Given the description of an element on the screen output the (x, y) to click on. 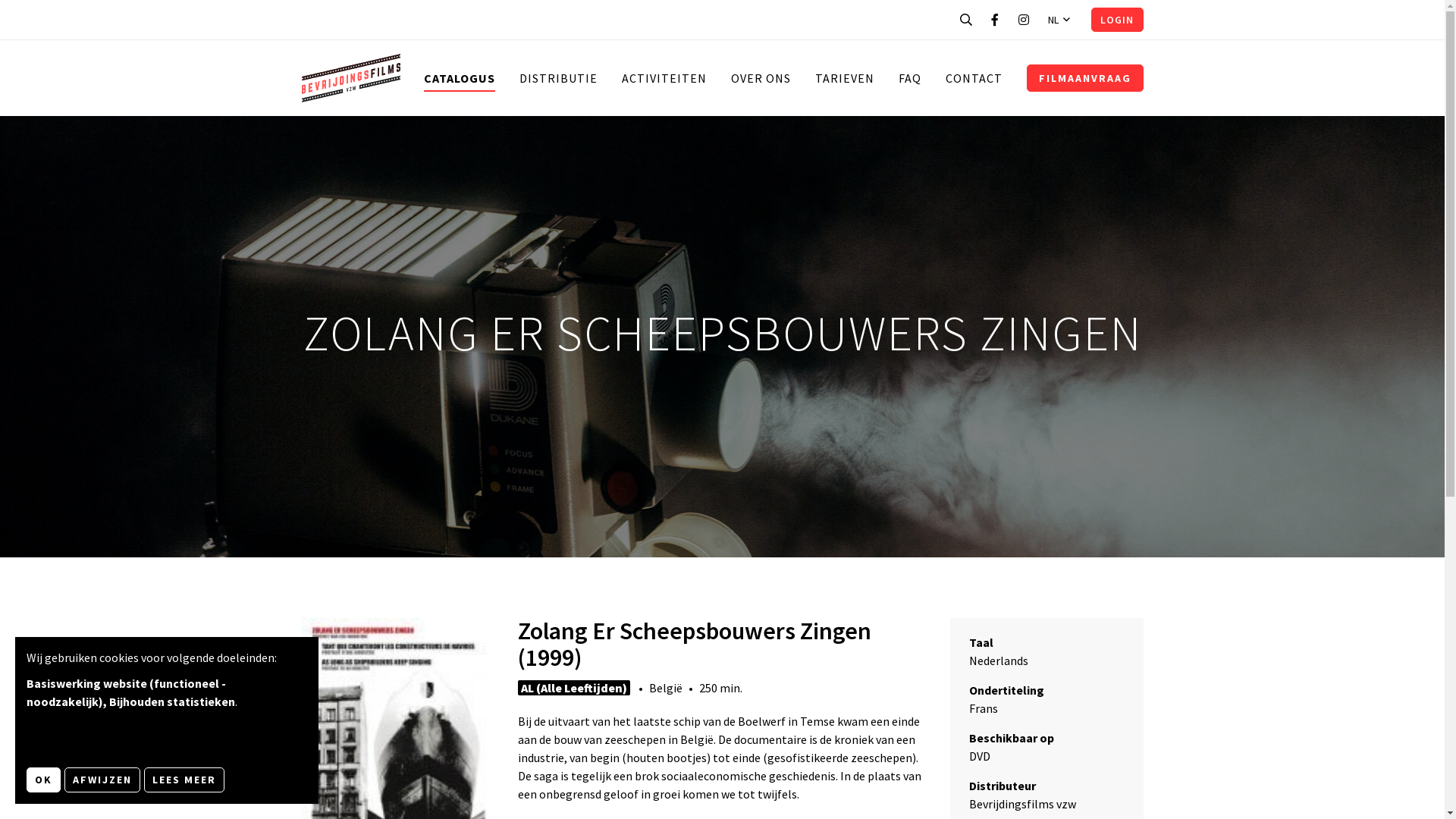
DISTRIBUTIE Element type: text (557, 78)
FILMAANVRAAG Element type: text (1084, 77)
AFWIJZEN Element type: text (102, 779)
CONTACT Element type: text (972, 78)
ACTIVITEITEN Element type: text (663, 78)
OK Element type: text (43, 779)
CATALOGUS Element type: text (458, 78)
OVER ONS Element type: text (760, 78)
FAQ Element type: text (908, 78)
LEES MEER Element type: text (184, 779)
LOGIN Element type: text (1116, 19)
TARIEVEN Element type: text (843, 78)
